Given the description of an element on the screen output the (x, y) to click on. 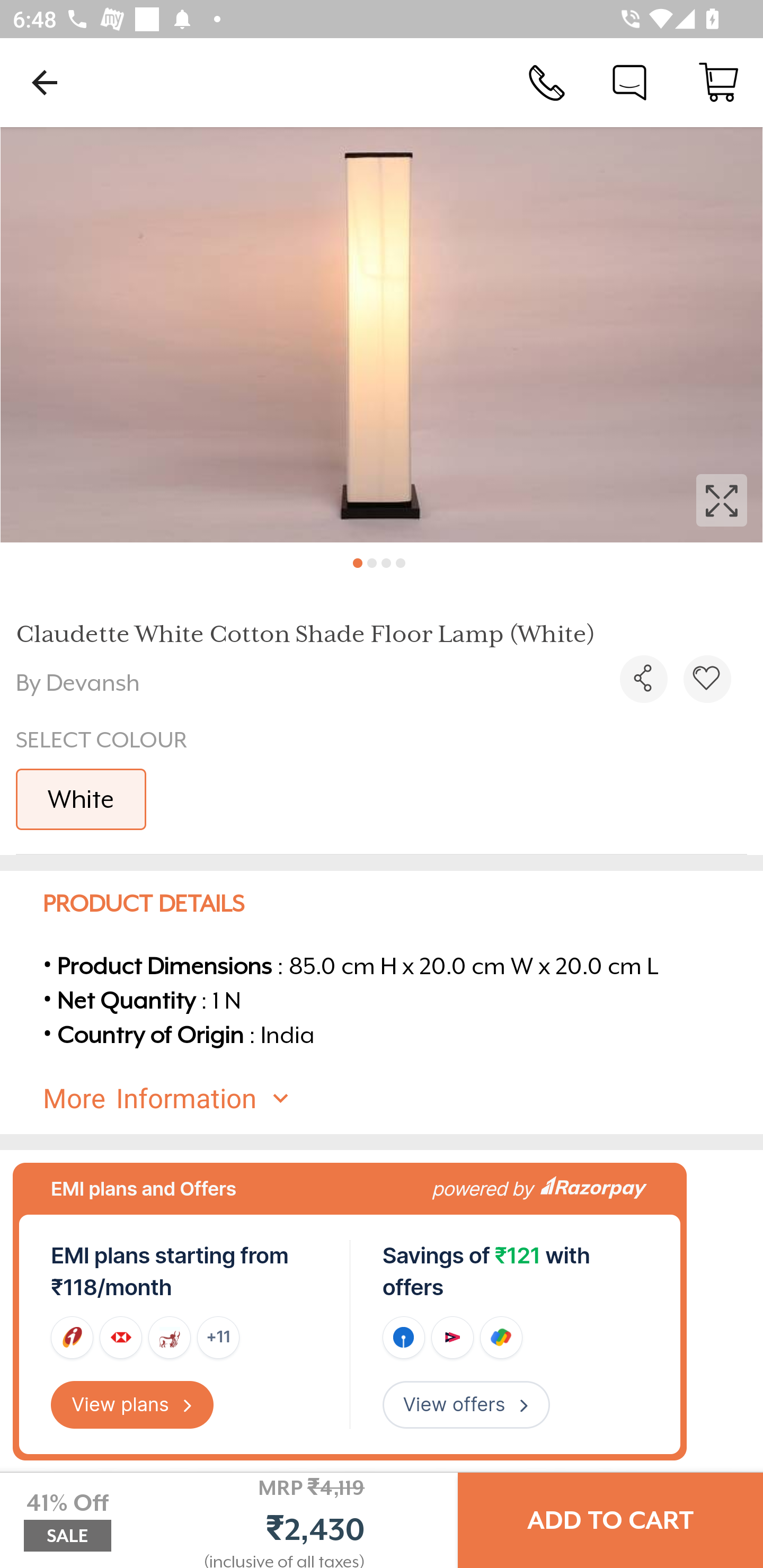
Navigate up (44, 82)
Call Us (546, 81)
Chat (629, 81)
Cart (718, 81)
 (381, 334)
 (643, 678)
 (706, 678)
White (81, 798)
More Information  (396, 1098)
View plans (132, 1404)
View offers (465, 1404)
ADD TO CART (610, 1520)
